Given the description of an element on the screen output the (x, y) to click on. 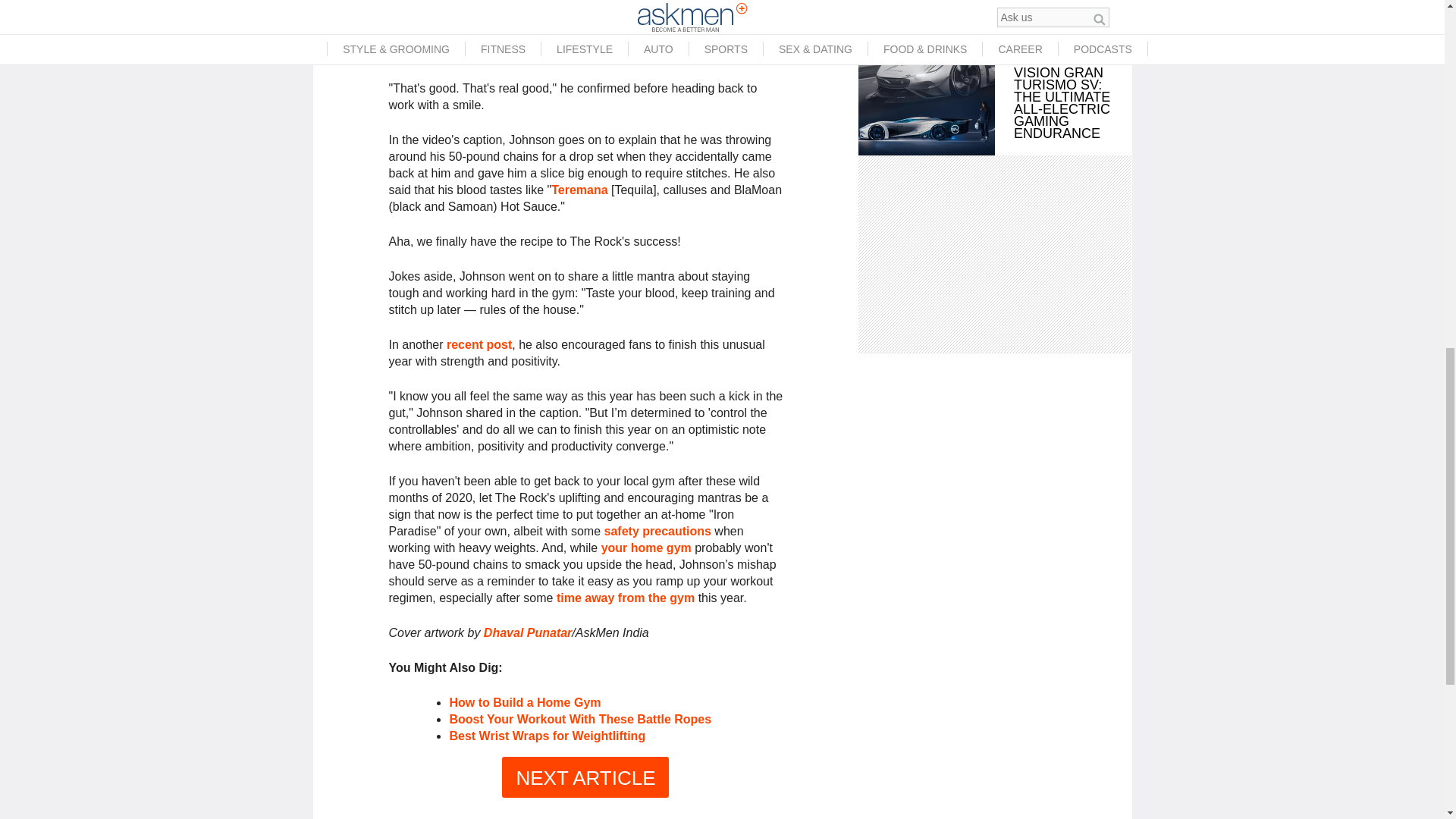
time away from the gym (625, 597)
Teremana (579, 189)
safety precautions (657, 530)
your home gym (646, 547)
recent post (479, 344)
